Given the description of an element on the screen output the (x, y) to click on. 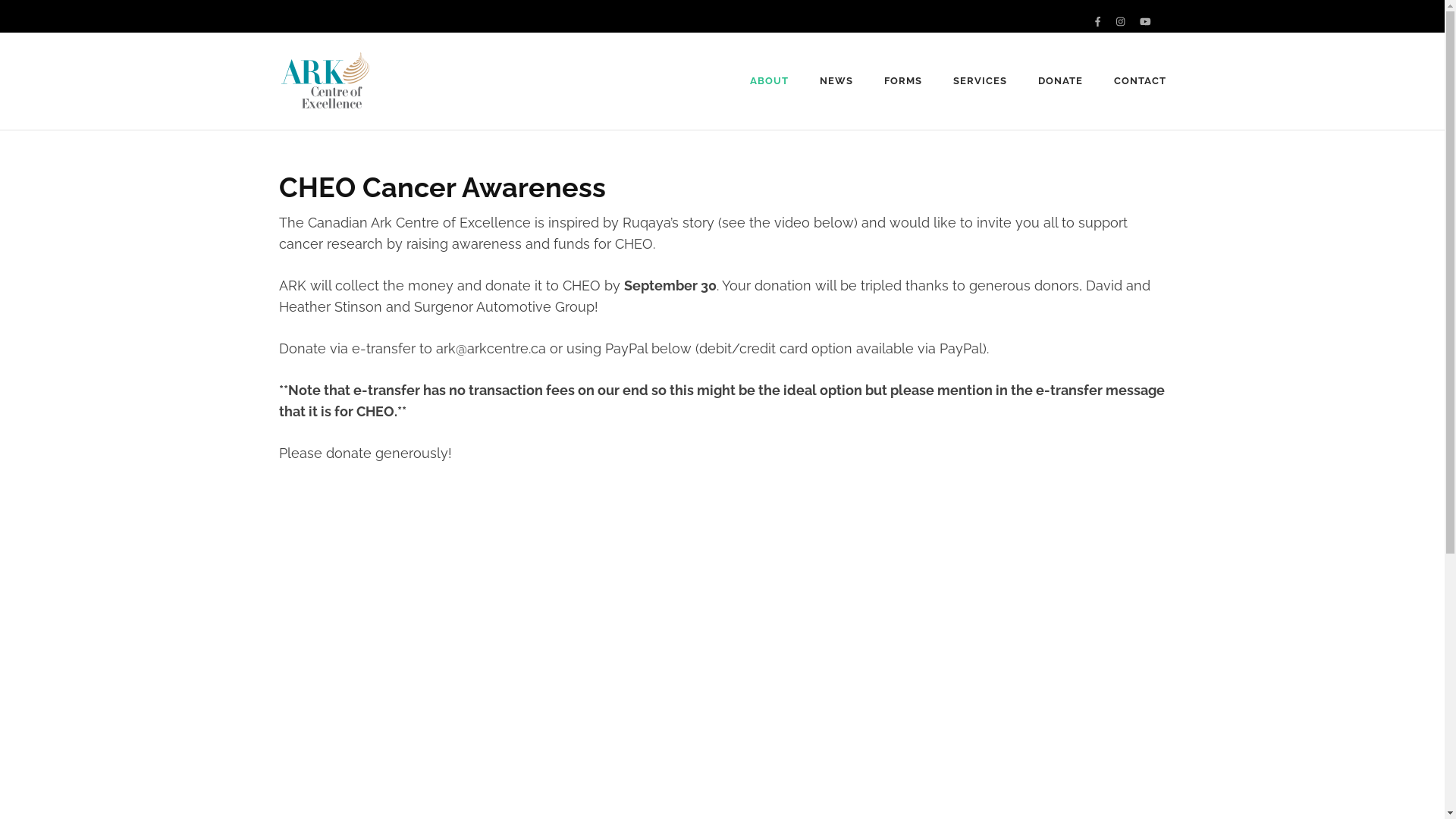
Instagram Element type: hover (1120, 21)
Ark Element type: text (396, 91)
CONTACT Element type: text (1139, 80)
FORMS Element type: text (903, 80)
NEWS Element type: text (836, 80)
DONATE Element type: text (1060, 80)
ABOUT Element type: text (768, 80)
YouTube Element type: hover (1145, 21)
SERVICES Element type: text (980, 80)
Facebook Element type: hover (1097, 21)
